Given the description of an element on the screen output the (x, y) to click on. 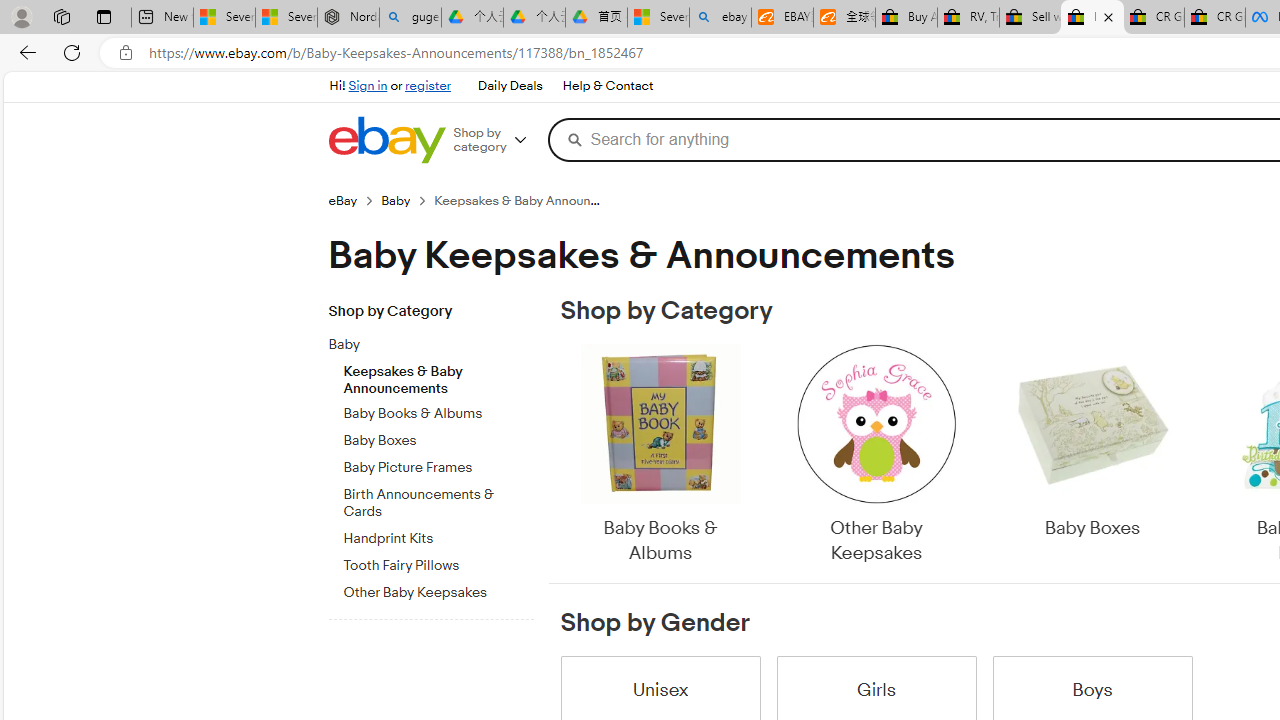
Tooth Fairy Pillows (438, 566)
Handprint Kits (438, 538)
Shop by category (496, 140)
RV, Trailer & Camper Steps & Ladders for sale | eBay (968, 17)
Other Baby Keepsakes (875, 455)
Birth Announcements & Cards (438, 504)
Sign in (367, 85)
Baby Picture Frames (438, 468)
eBay Home (386, 139)
Help & Contact (606, 85)
Baby Boxes (1092, 443)
ebay - Search (720, 17)
